Given the description of an element on the screen output the (x, y) to click on. 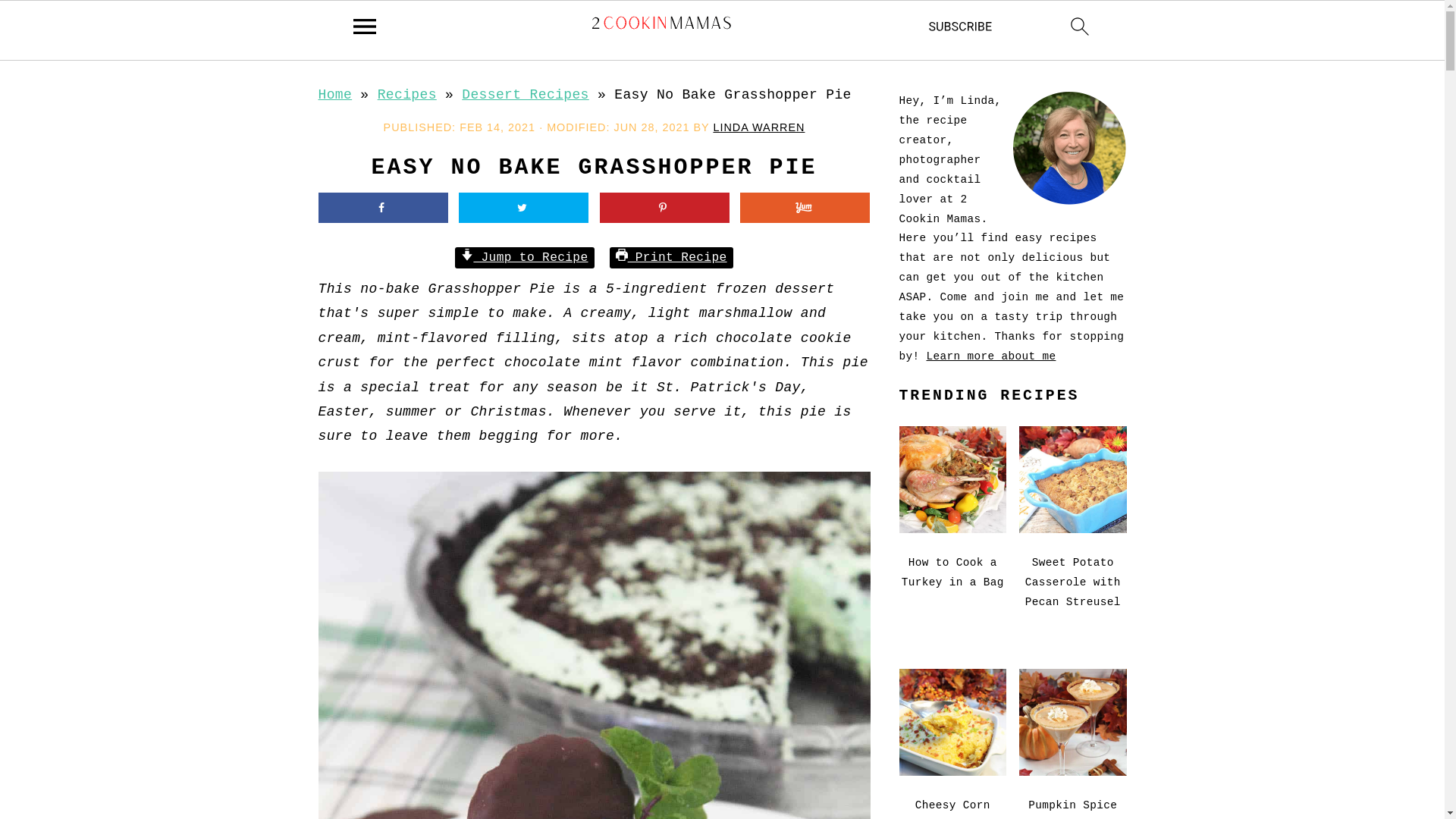
Share on Twitter Element type: hover (523, 207)
Jump to Recipe Element type: text (524, 257)
search icon Element type: text (1079, 30)
Recipes Element type: text (406, 94)
Dessert Recipes Element type: text (524, 94)
Skip to primary navigation Element type: text (0, 60)
LINDA WARREN Element type: text (758, 127)
How to Cook a Turkey in a Bag Element type: text (953, 525)
Save to Pinterest Element type: hover (664, 207)
Print Recipe Element type: text (671, 257)
menu icon Element type: text (364, 30)
Sweet Potato Casserole with Pecan Streusel Element type: text (1072, 525)
Share on Yummly Element type: hover (804, 207)
Learn more about me Element type: text (990, 356)
Share on Facebook Element type: hover (383, 207)
Home Element type: text (335, 94)
